Given the description of an element on the screen output the (x, y) to click on. 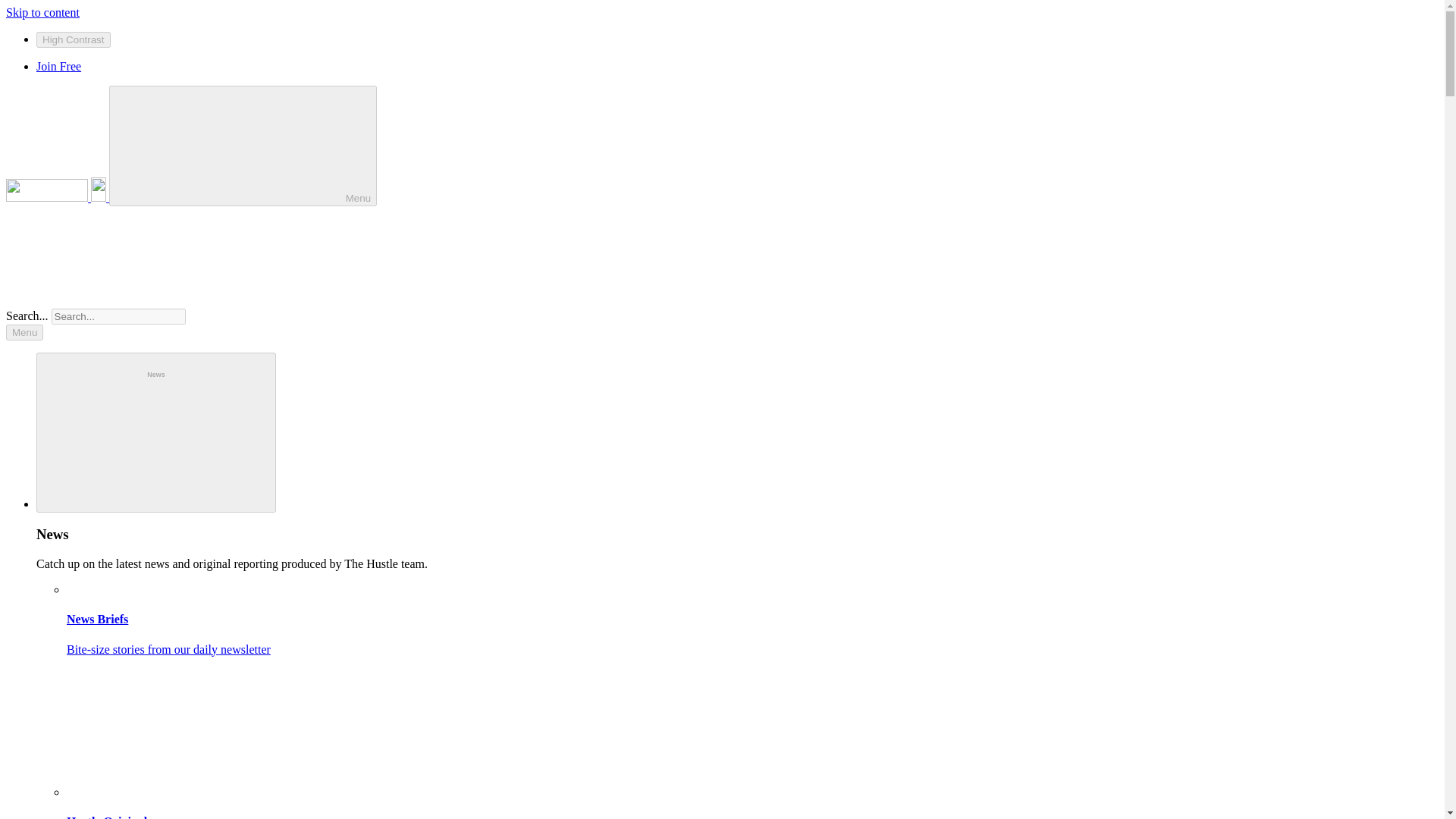
Skip to content (42, 11)
News (156, 432)
High Contrast (73, 39)
Menu (243, 145)
Join Free (58, 65)
Menu (24, 332)
